Given the description of an element on the screen output the (x, y) to click on. 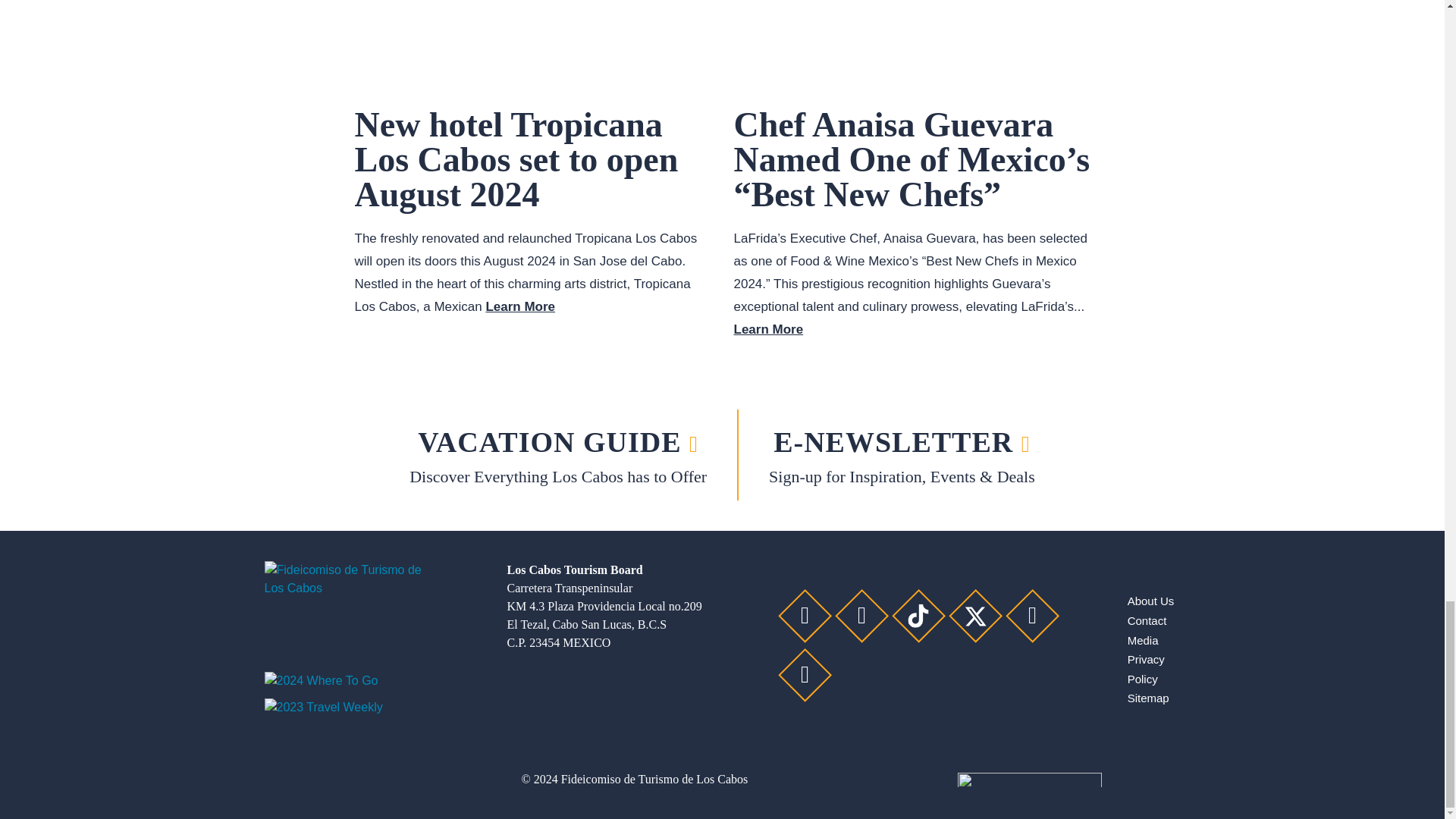
Visit our twitter page (975, 616)
Privacy Policy (1145, 668)
Media (1142, 640)
Sitemap (1147, 697)
About Us (1150, 600)
Contact (1146, 620)
